Given the description of an element on the screen output the (x, y) to click on. 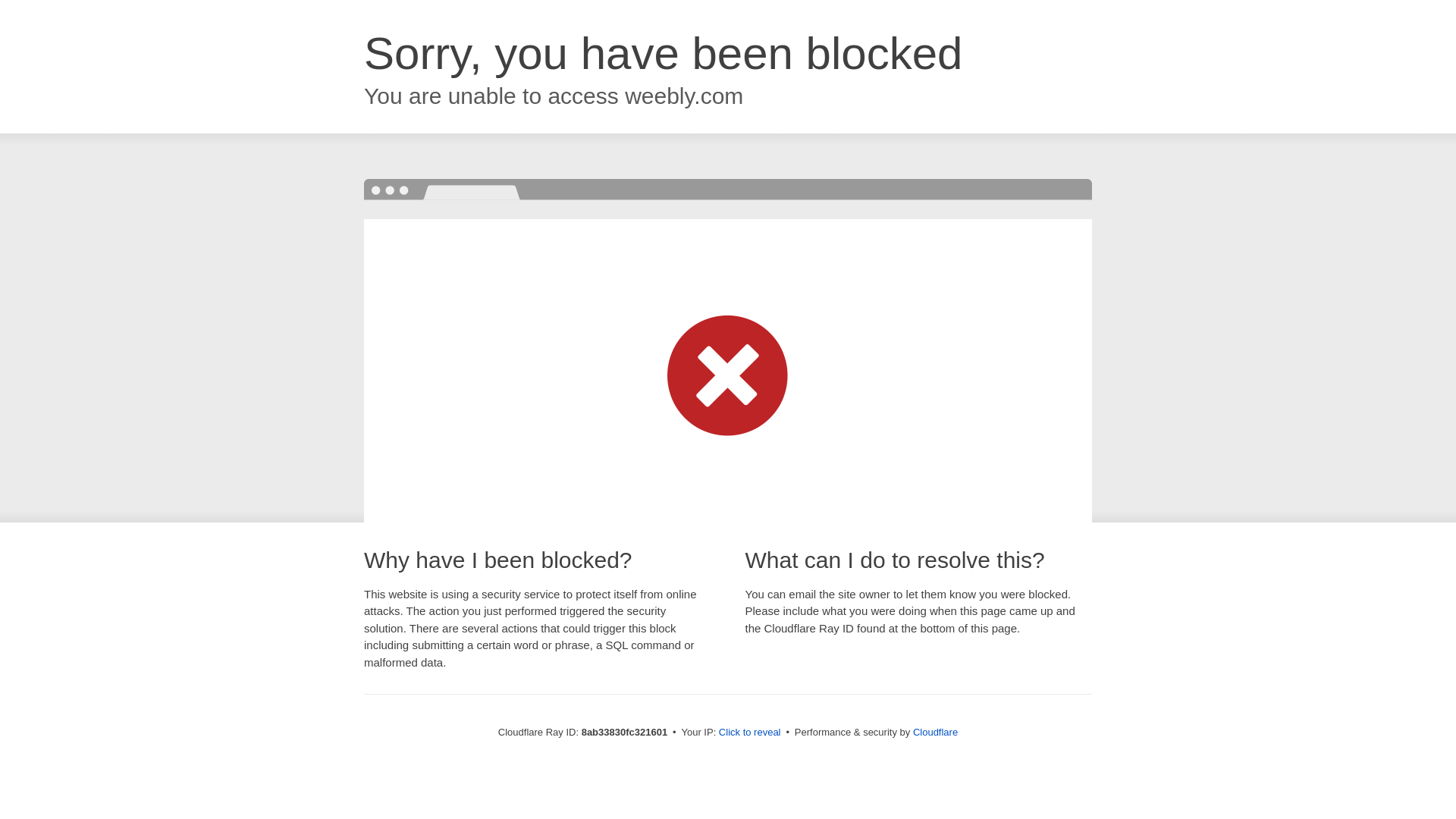
Cloudflare (935, 731)
Click to reveal (749, 732)
